Given the description of an element on the screen output the (x, y) to click on. 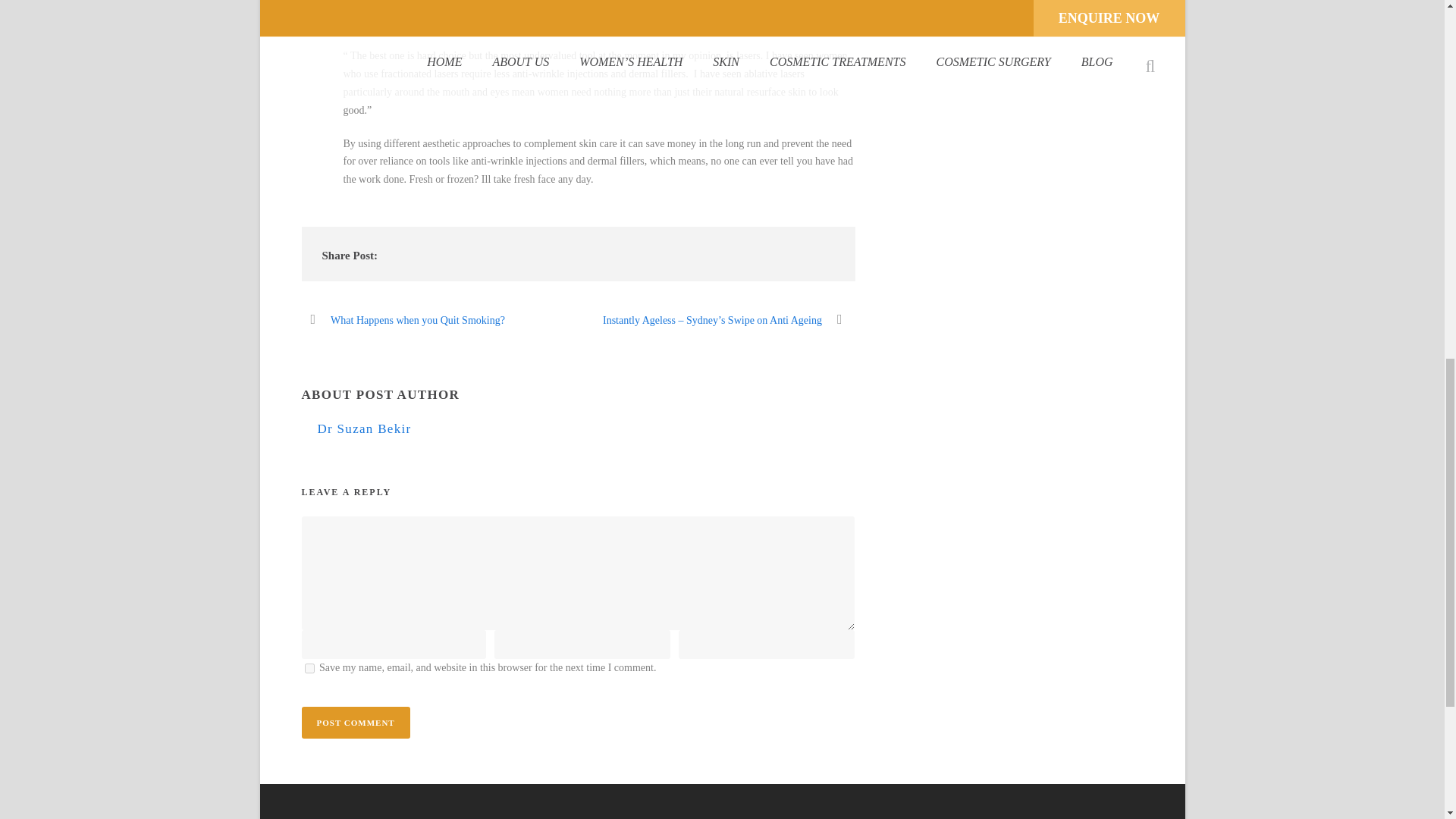
Post Comment (355, 722)
Posts by Dr Suzan Bekir (363, 428)
yes (309, 668)
